Given the description of an element on the screen output the (x, y) to click on. 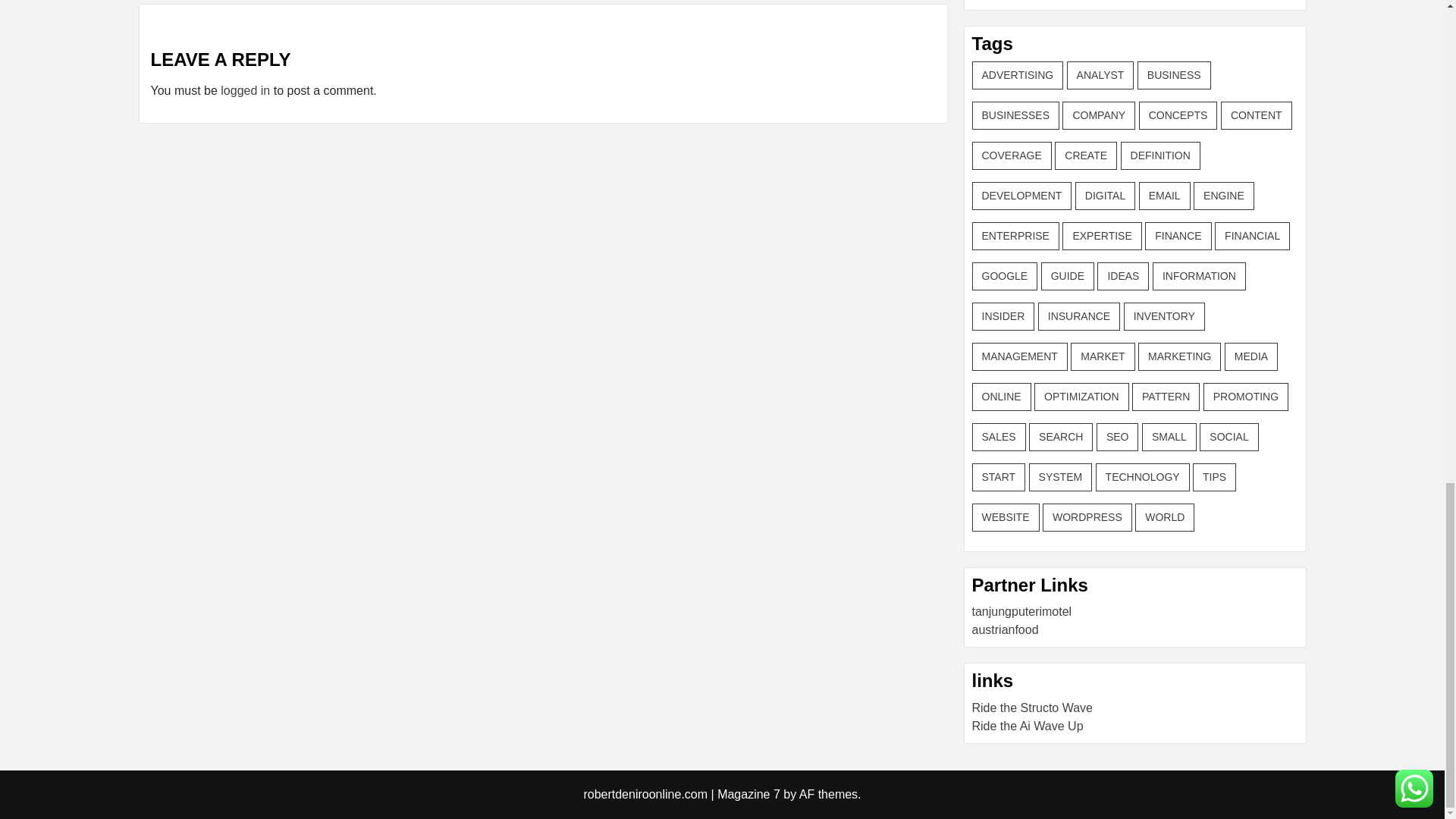
logged in (245, 90)
